Given the description of an element on the screen output the (x, y) to click on. 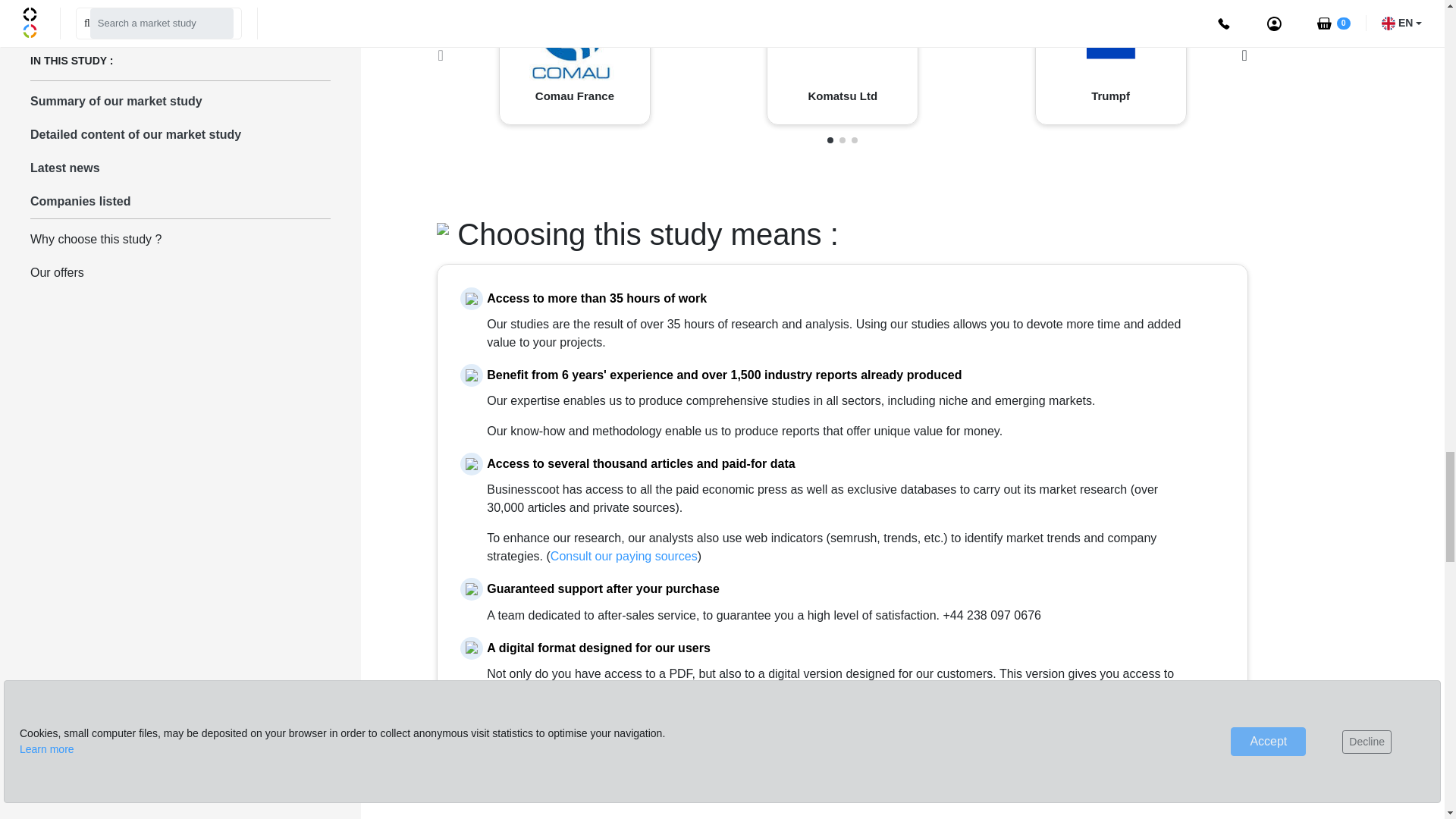
Trumpf (1110, 34)
Comau France (571, 40)
Komatsu Ltd (842, 34)
